Given the description of an element on the screen output the (x, y) to click on. 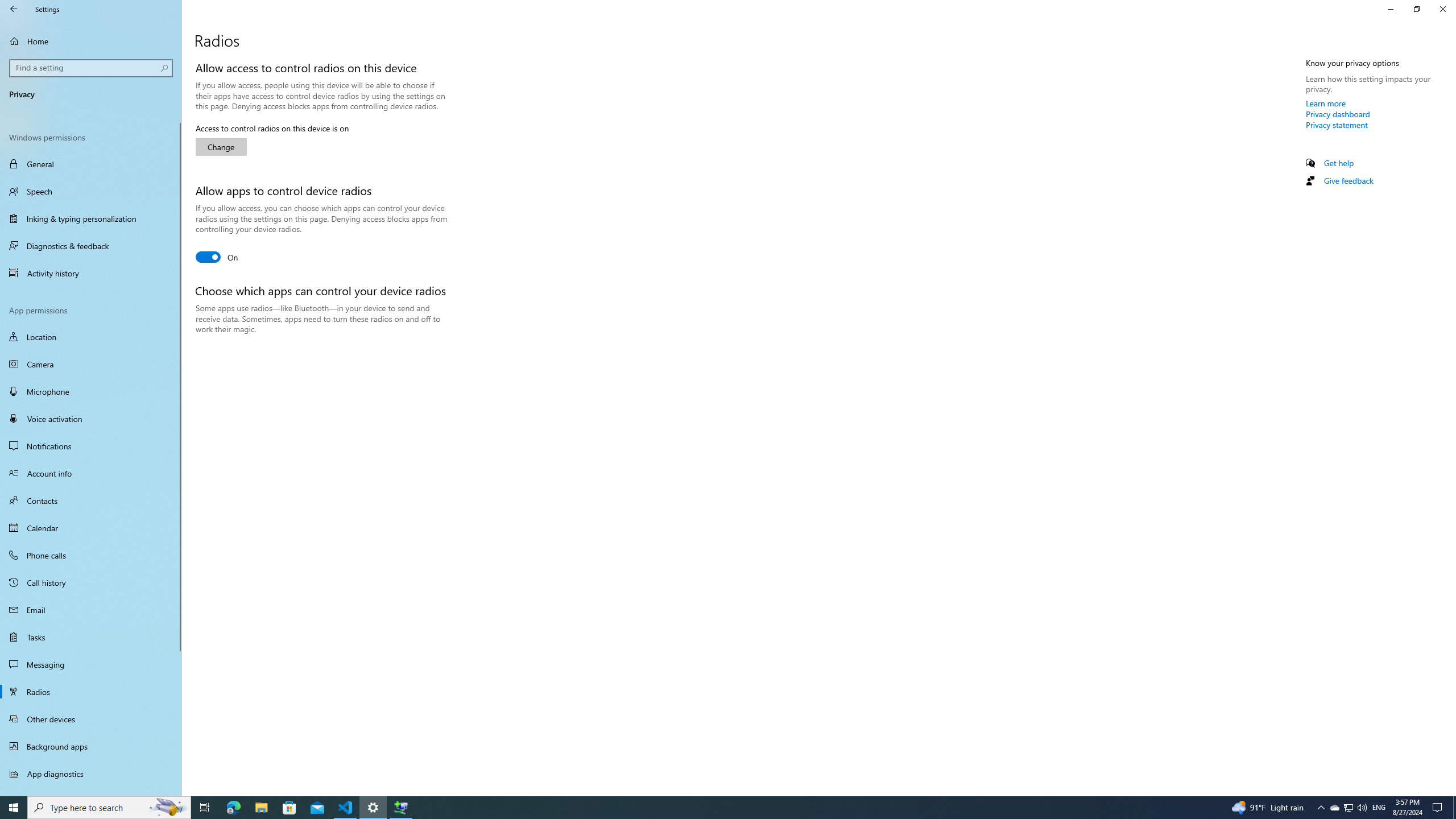
App diagnostics (91, 773)
Account info (91, 472)
Speech (91, 190)
Calendar (91, 527)
Contacts (91, 500)
Back (13, 9)
Microphone (91, 390)
Activity history (91, 272)
Settings - 1 running window (373, 807)
Microsoft Store (289, 807)
Change (221, 146)
Tray Input Indicator - English (United States) (1378, 807)
Email (91, 609)
Radios (91, 691)
